Given the description of an element on the screen output the (x, y) to click on. 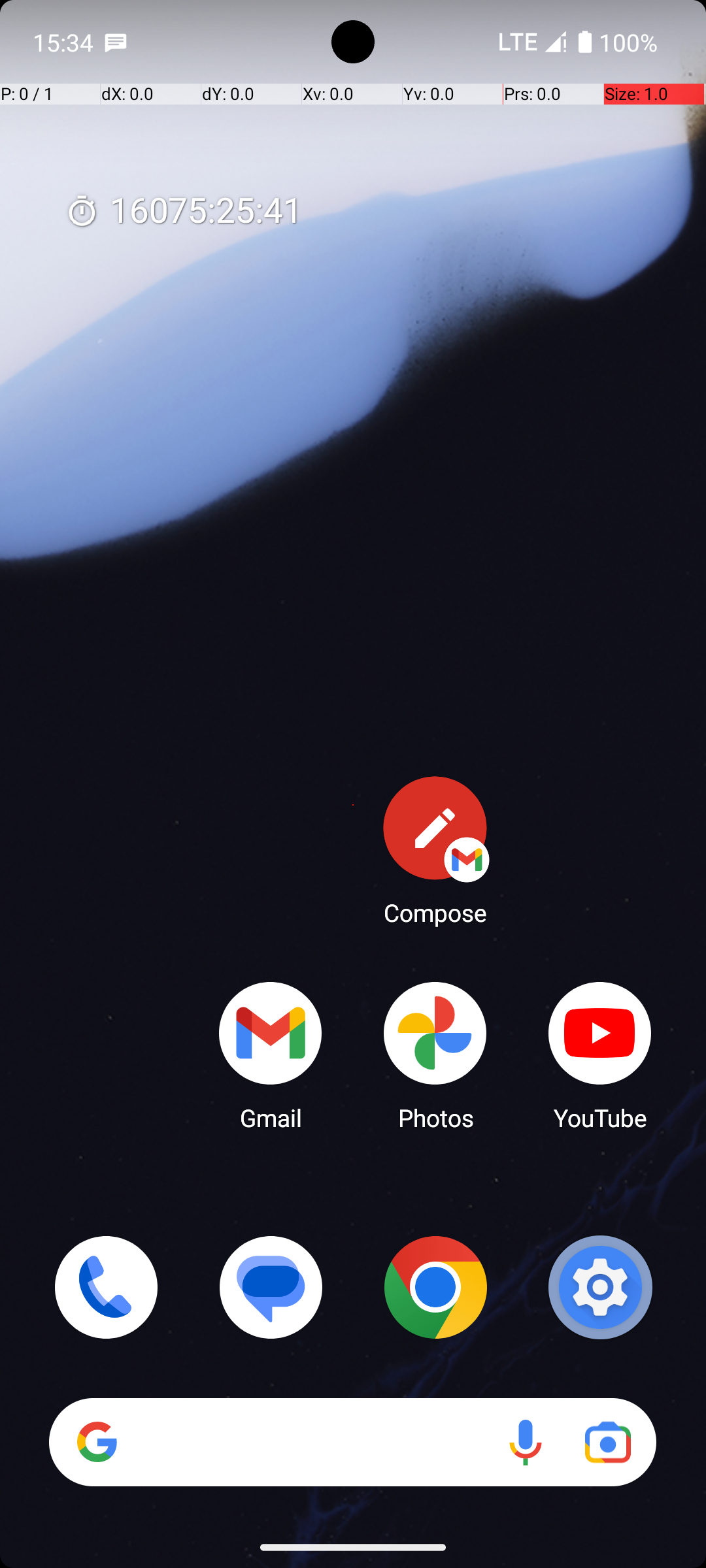
16075:25:41 Element type: android.widget.TextView (183, 210)
